Given the description of an element on the screen output the (x, y) to click on. 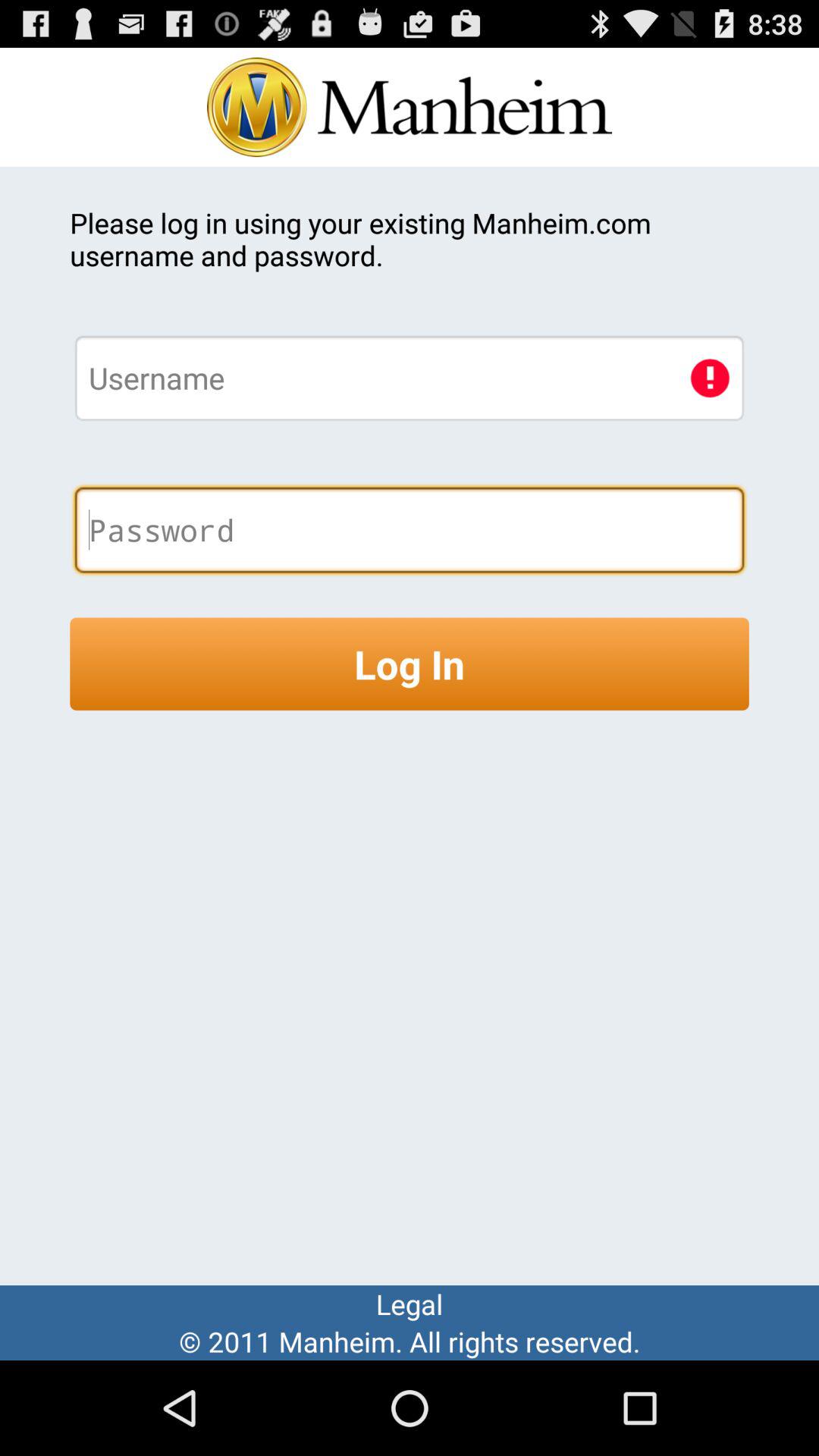
choose app above 2011 manheim all app (409, 1303)
